Given the description of an element on the screen output the (x, y) to click on. 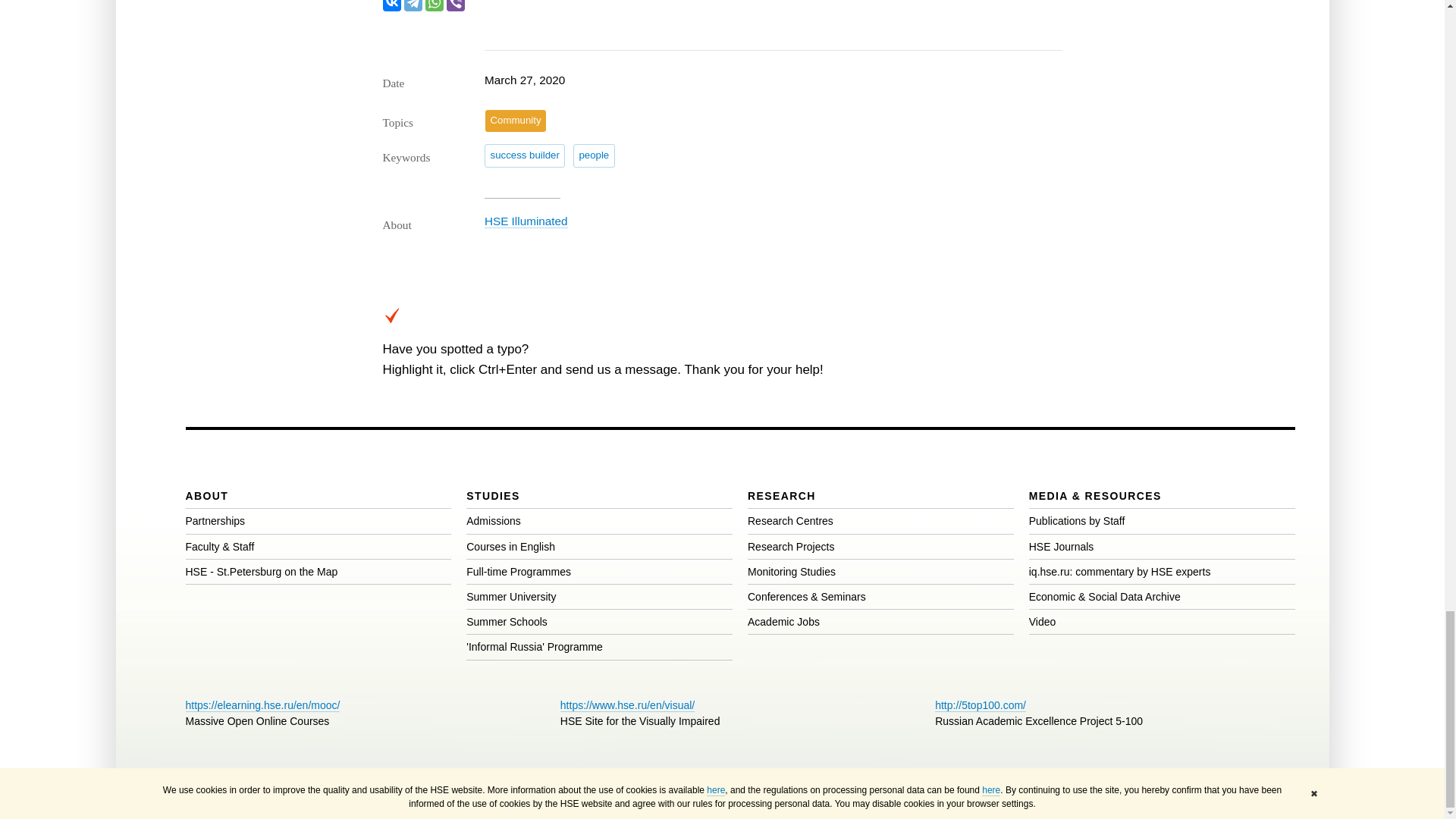
VKontakte (390, 5)
success builder (525, 155)
people (593, 155)
Community (515, 119)
WhatsApp (433, 5)
people (593, 155)
ABOUT (206, 495)
Viber (454, 5)
HSE Illuminated (525, 221)
success builder (525, 155)
Telegram (412, 5)
